Given the description of an element on the screen output the (x, y) to click on. 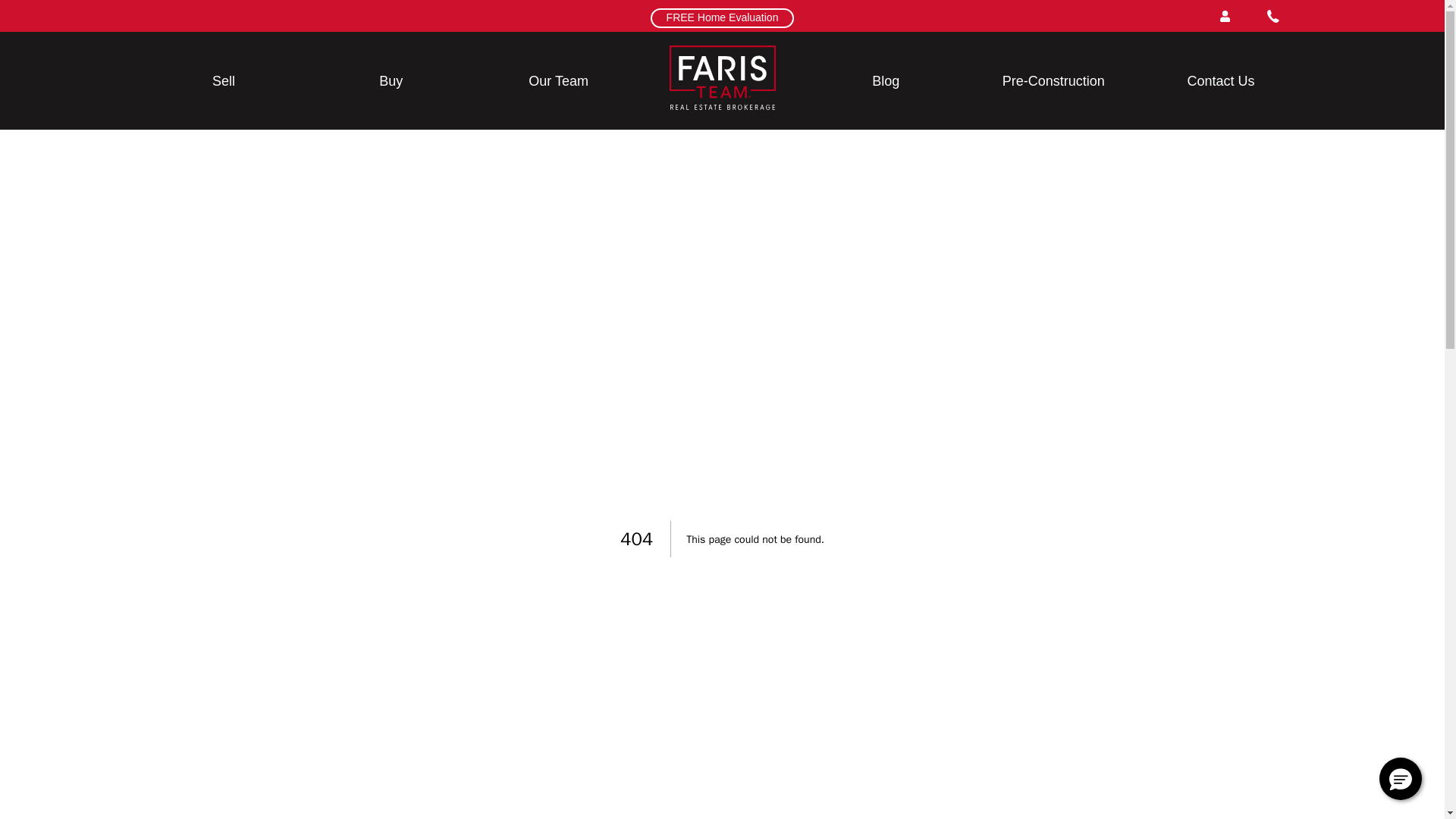
Call Faris Team (1273, 15)
Contact Us (1221, 80)
Our Team (558, 80)
Sell (223, 80)
Buy (390, 80)
Blog (885, 80)
Pre-Construction (1054, 80)
FREE Home Evaluation (721, 17)
Call Faris Team (1273, 15)
